Given the description of an element on the screen output the (x, y) to click on. 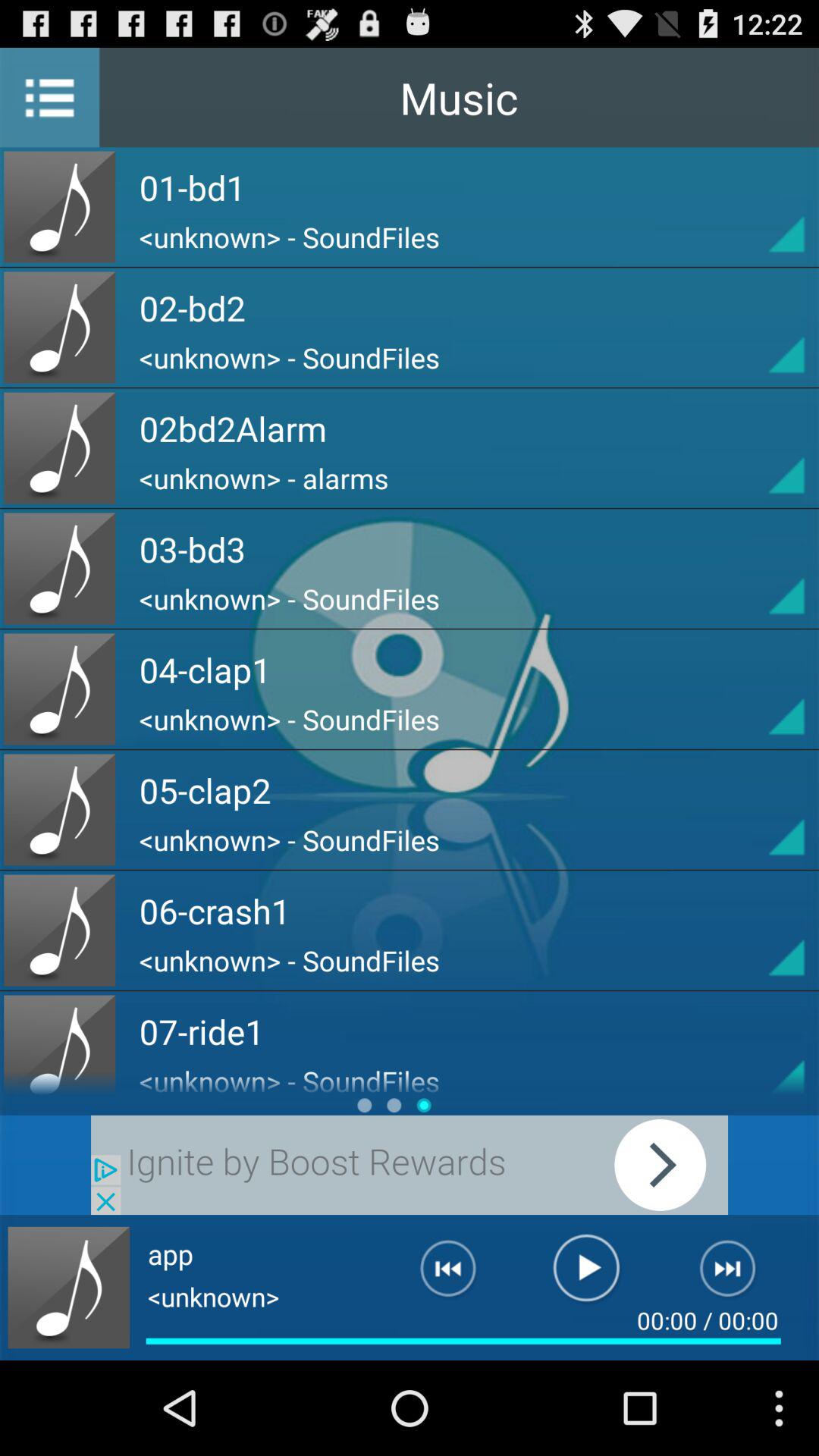
go to play (759, 206)
